Given the description of an element on the screen output the (x, y) to click on. 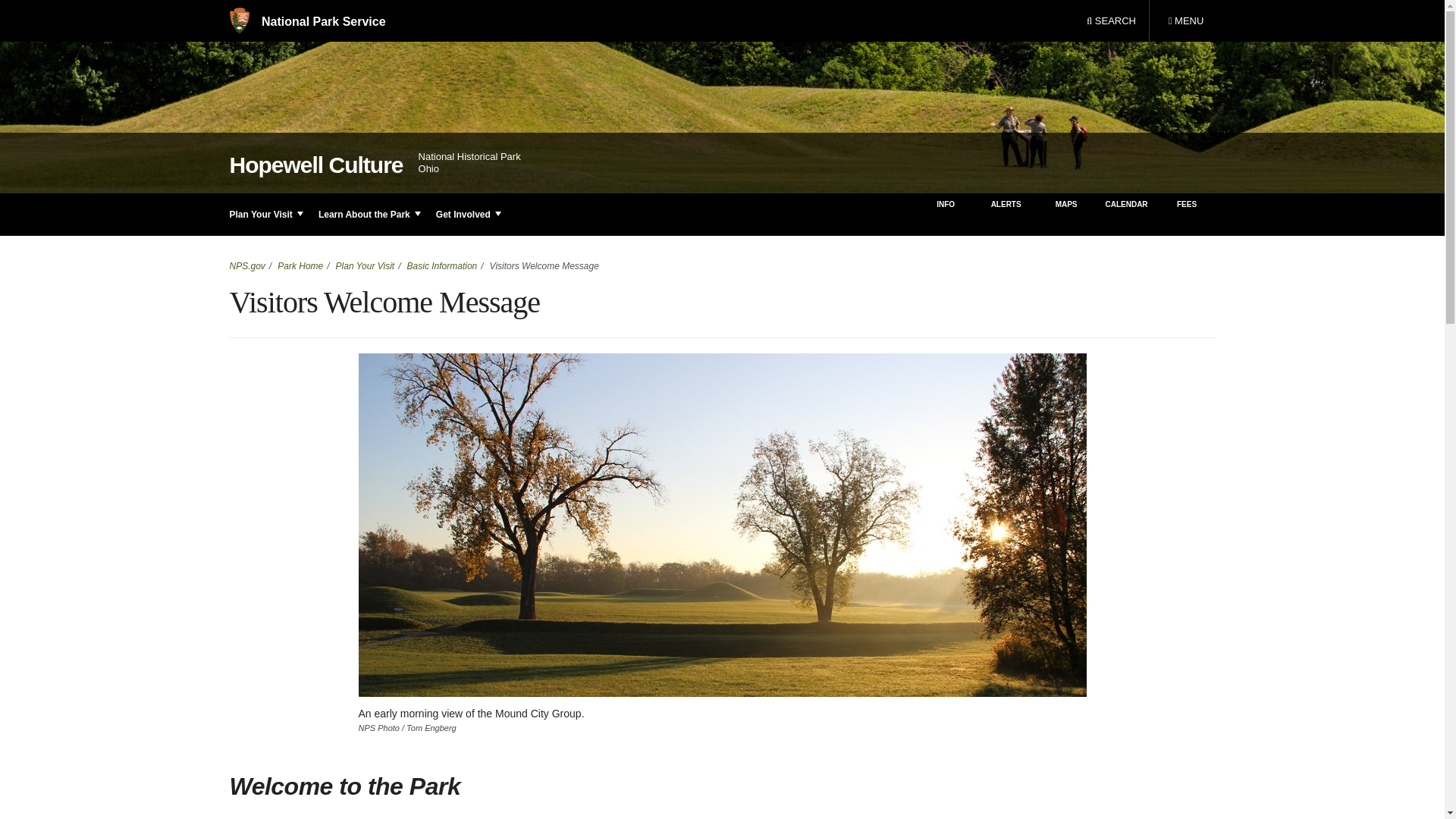
National Park Service (1185, 20)
SEARCH (307, 20)
